Given the description of an element on the screen output the (x, y) to click on. 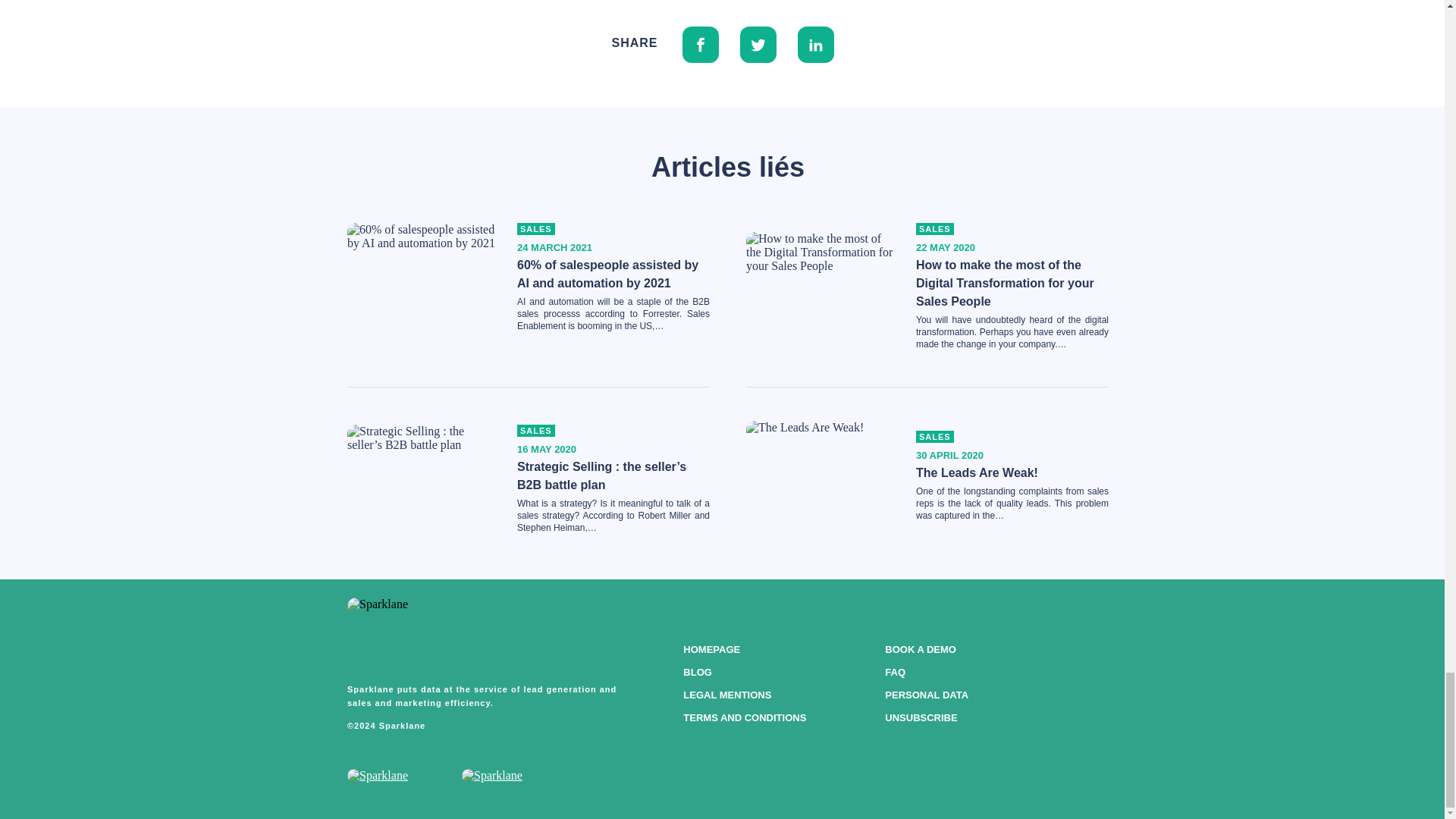
Read the article (607, 273)
Partager sur Facebook (701, 43)
Read the article (1004, 282)
Partager sur LinkedIn (816, 43)
Read the article (976, 472)
Partager sur Twitter (758, 43)
Read the article (600, 475)
